Given the description of an element on the screen output the (x, y) to click on. 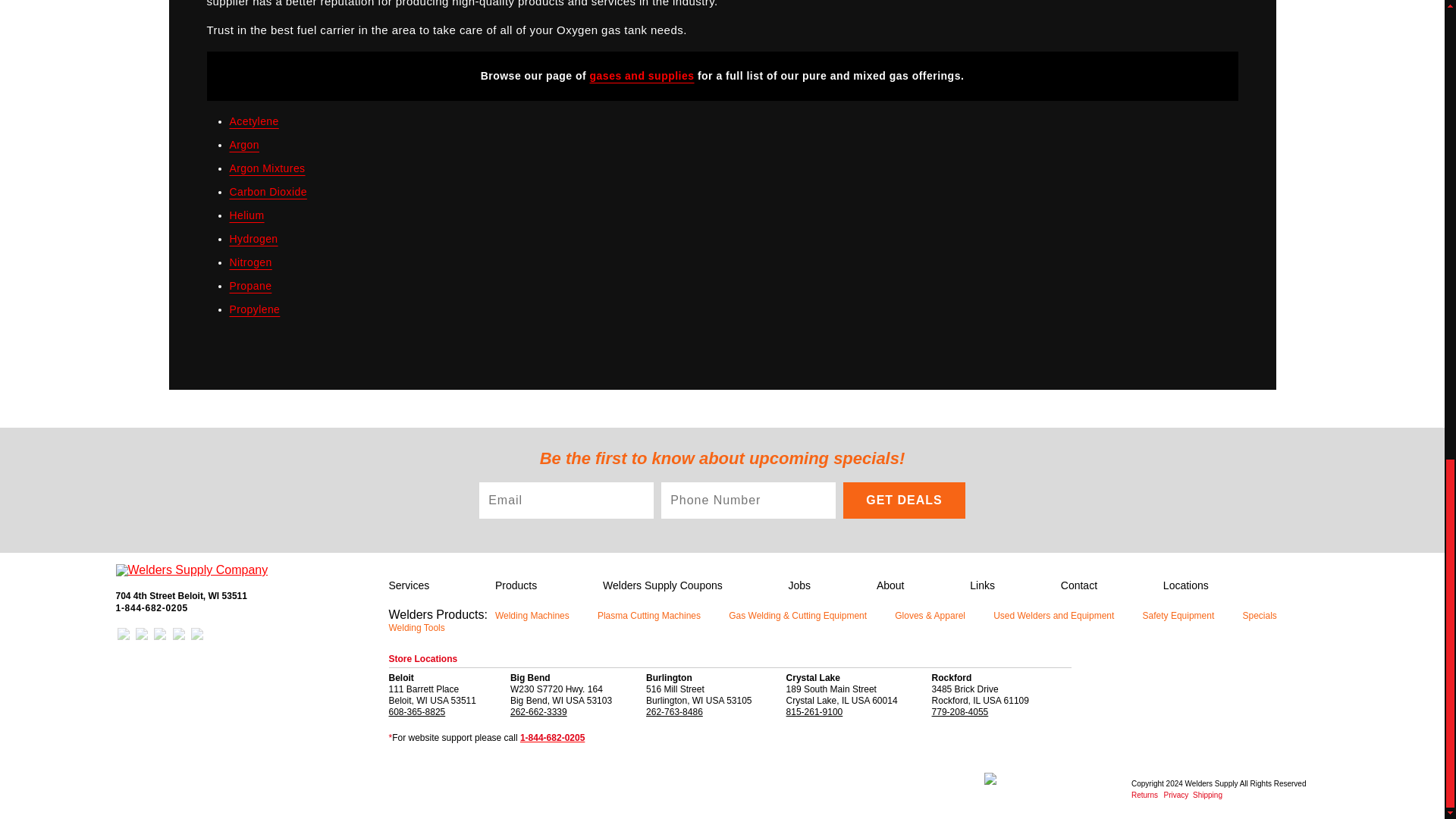
GET DEALS (904, 500)
